Given the description of an element on the screen output the (x, y) to click on. 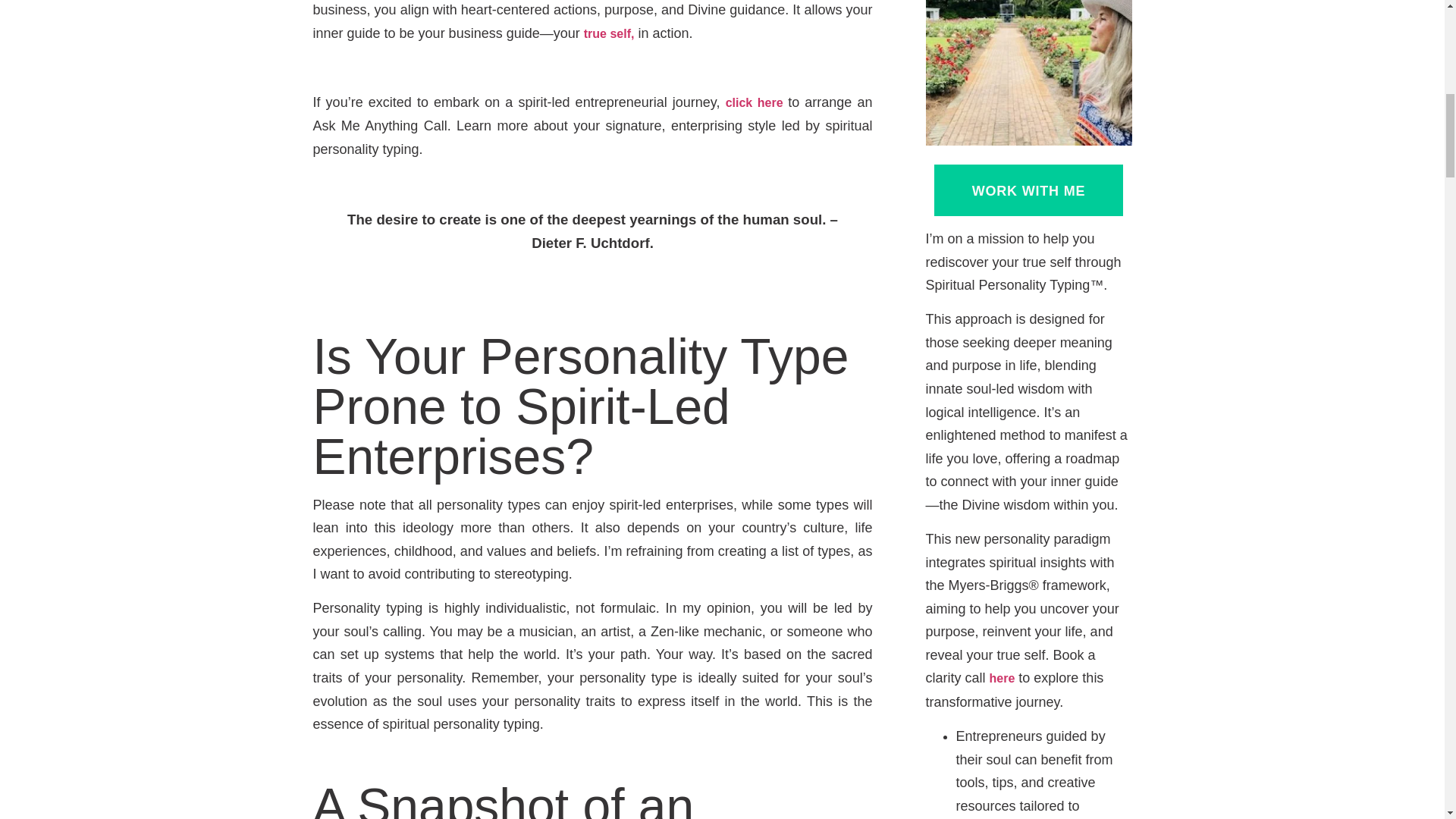
true self, (608, 33)
WORK WITH ME (1029, 190)
here (1002, 677)
click here (757, 102)
Nina Zapala blog photo (1027, 72)
